Given the description of an element on the screen output the (x, y) to click on. 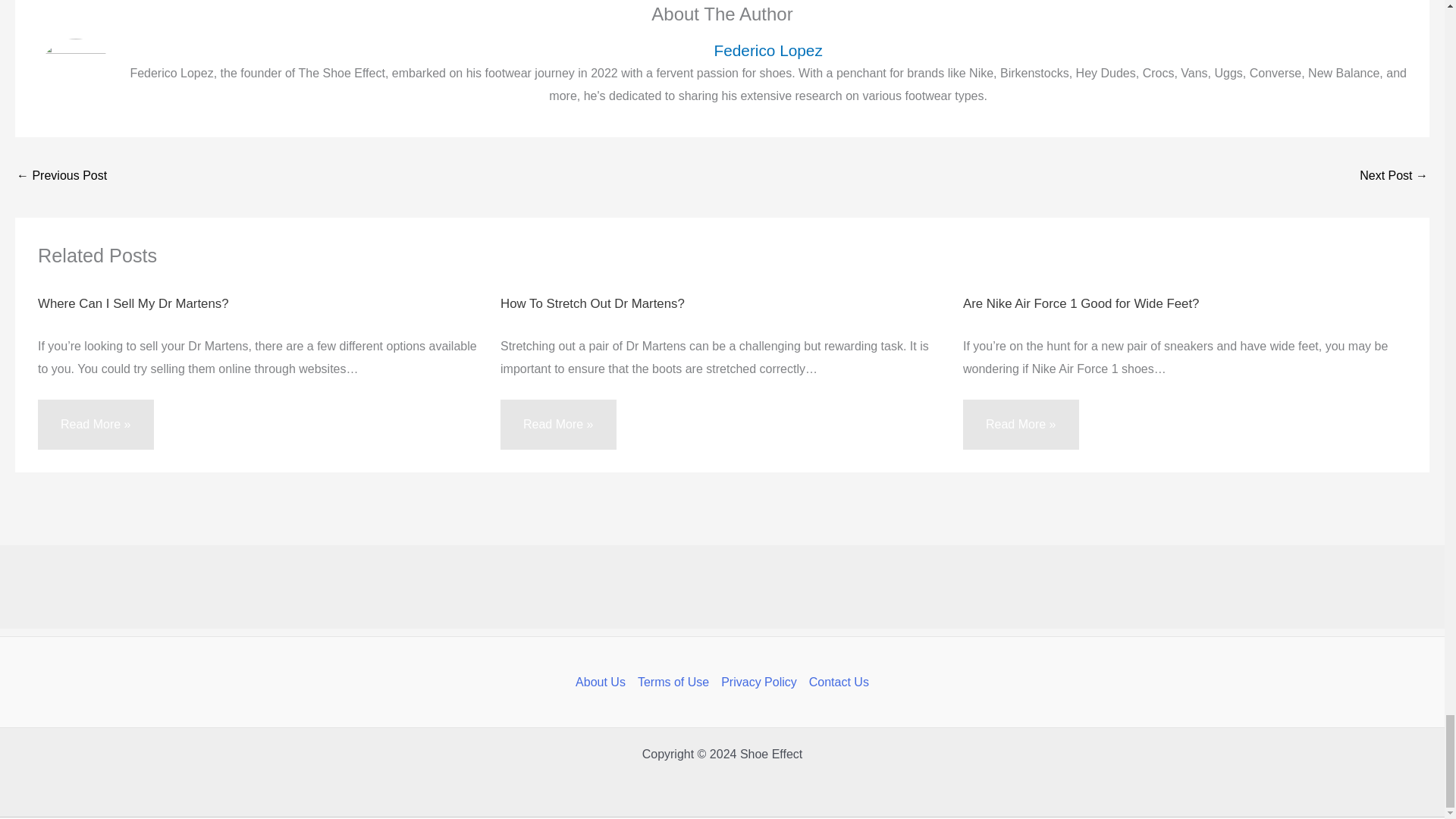
Contact Us (836, 681)
Federico Lopez (767, 50)
Are Nike Air Force 1 Good for Wide Feet? (1080, 303)
Where Can I Sell My Dr Martens? (132, 303)
What Are Under Armour Smart Shoes? (1393, 176)
Privacy Policy (758, 681)
Terms of Use (672, 681)
Retro Elegance: Vintage Burberry T-Bar Shoes In Size 10.5 (61, 176)
About Us (603, 681)
How To Stretch Out Dr Martens? (592, 303)
